Given the description of an element on the screen output the (x, y) to click on. 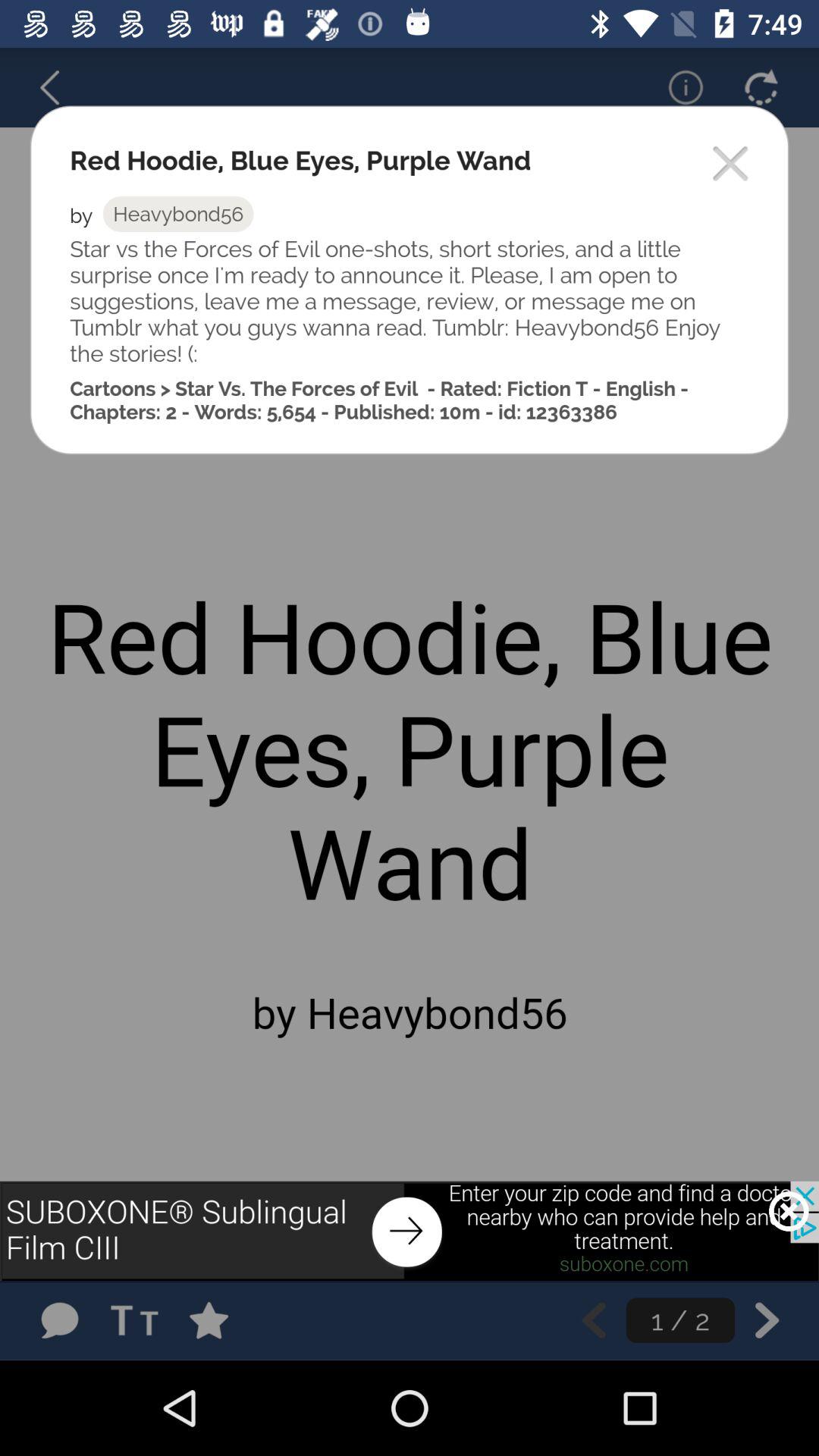
go ahead to the next page (767, 1320)
